Given the description of an element on the screen output the (x, y) to click on. 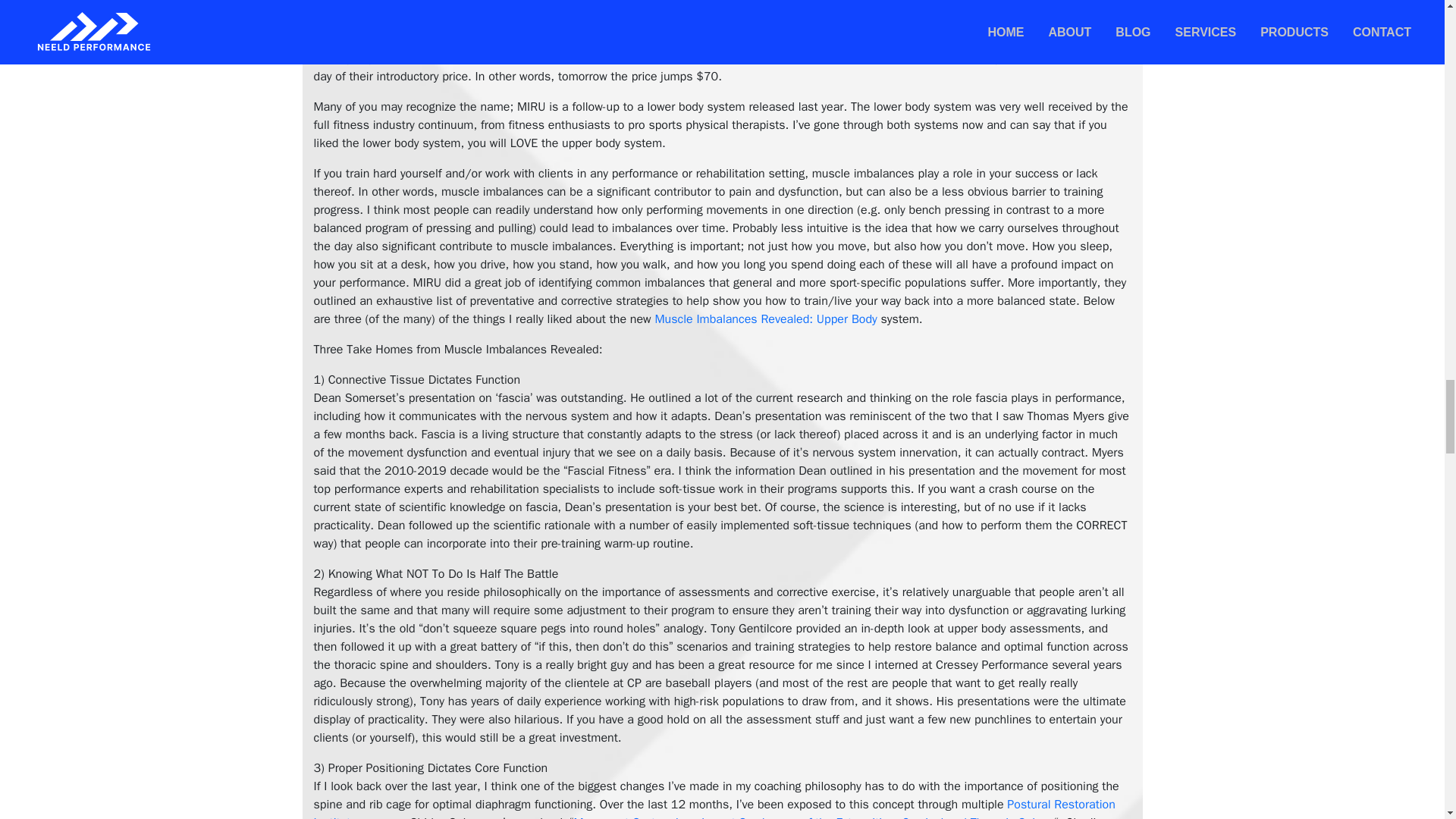
Muscle Imbalances Revealed: Upper Body (764, 319)
Postural Restoration Institute (714, 807)
Muscle Imbalances Revealed: Upper Body (764, 319)
Muscle Imbalances Revealed-Upper Body (721, 18)
Postural Restoration Institute (714, 807)
